Given the description of an element on the screen output the (x, y) to click on. 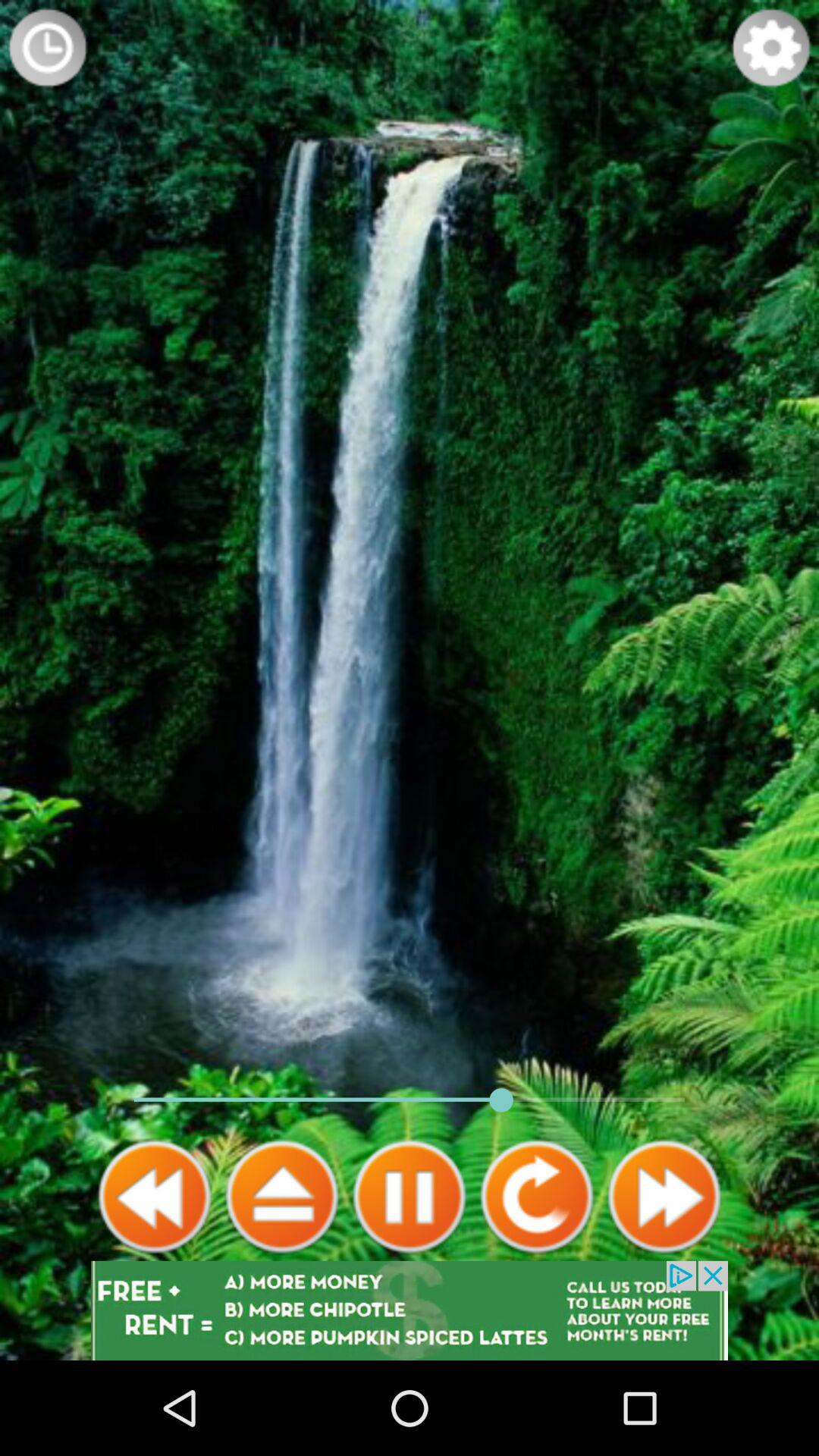
select timer (47, 47)
